Given the description of an element on the screen output the (x, y) to click on. 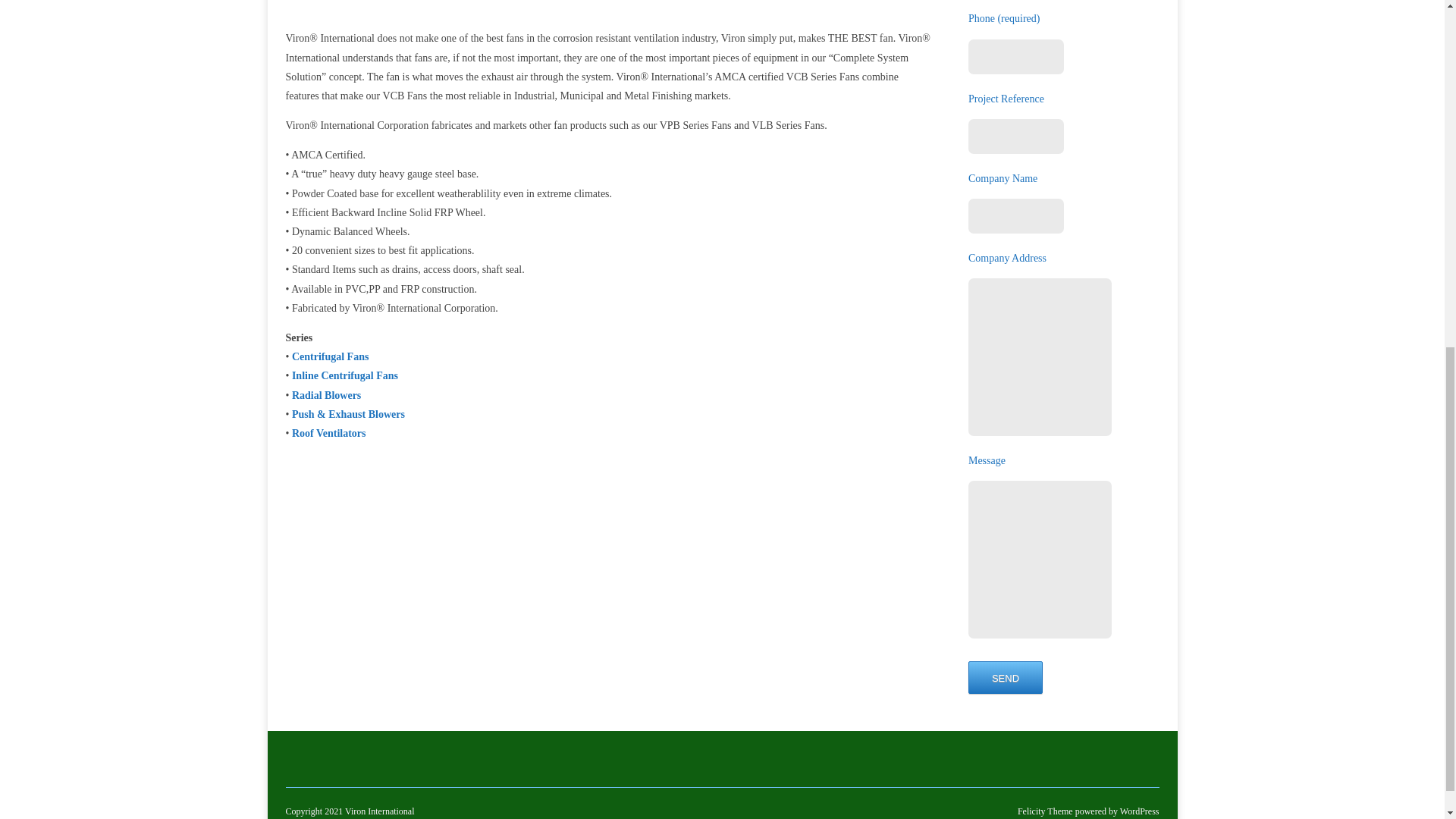
WordPress (1138, 810)
WordPress (1138, 810)
Copyright 2021 Viron International (349, 810)
Radial Blowers (326, 395)
Felicity Theme (1045, 810)
Inline Centrifugal Fans (344, 375)
Felicity Theme (1045, 810)
Centrifugal Fans (330, 356)
Roof Ventilators (329, 432)
Send (1005, 676)
Send (1005, 676)
